Given the description of an element on the screen output the (x, y) to click on. 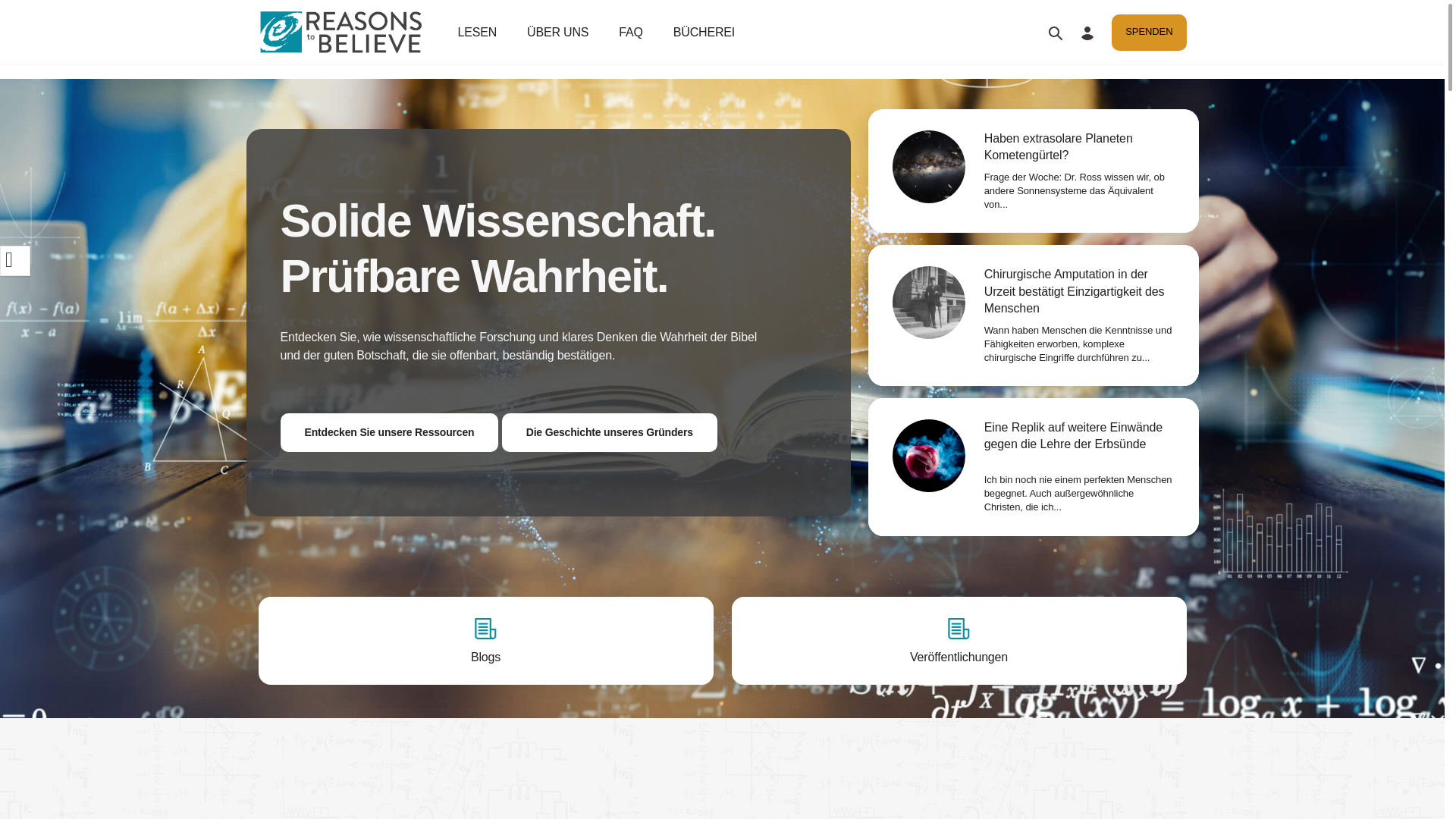
FAQ (630, 32)
Entdecken Sie unsere Ressourcen (390, 432)
LESEN (477, 32)
Reasons to Believe (338, 32)
SPENDEN (1149, 32)
Blogs (485, 640)
